Given the description of an element on the screen output the (x, y) to click on. 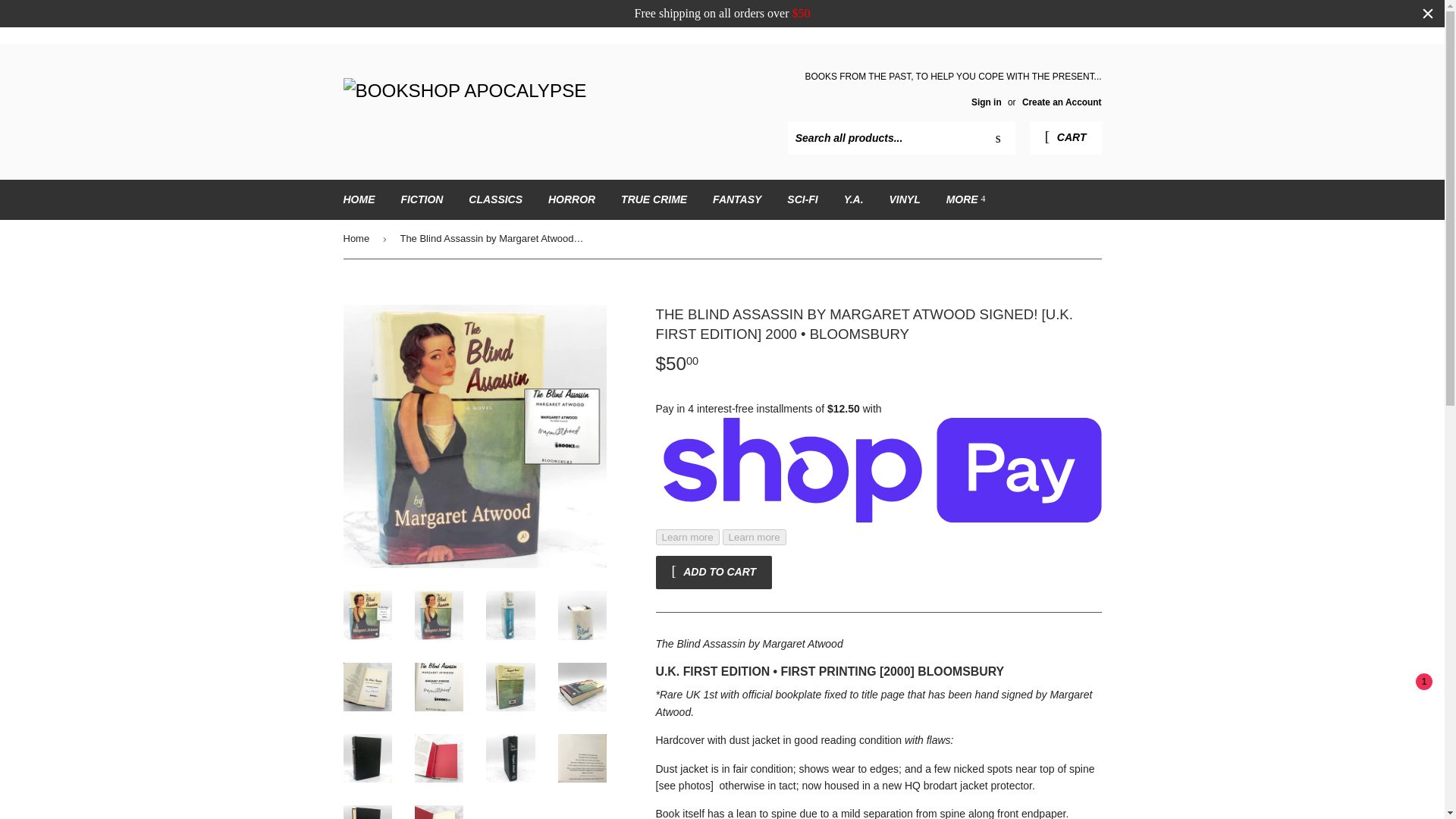
CLASSICS (495, 199)
Create an Account (1062, 102)
Sign in (986, 102)
FICTION (421, 199)
HOME (359, 199)
Shopify online store chat (1404, 703)
Search (997, 138)
CART (1065, 137)
